Given the description of an element on the screen output the (x, y) to click on. 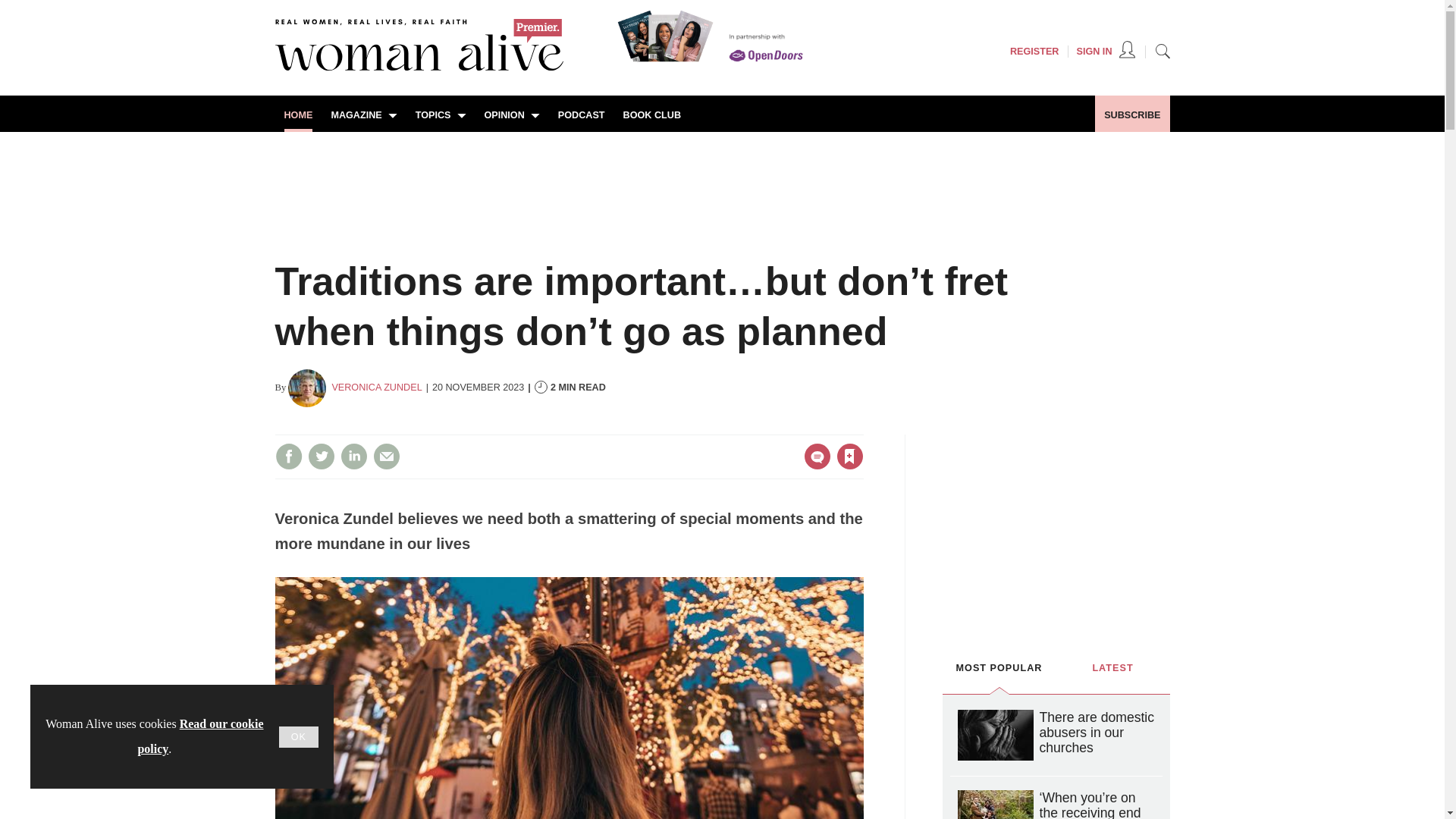
3rd party ad content (1055, 528)
SEARCH (1161, 50)
Share this on Twitter (320, 456)
Share this on Linked in (352, 456)
Read our cookie policy (199, 735)
Share this on Facebook (288, 456)
3rd party ad content (721, 183)
SIGN IN (1106, 51)
Email this article (386, 456)
Site name (418, 66)
